Given the description of an element on the screen output the (x, y) to click on. 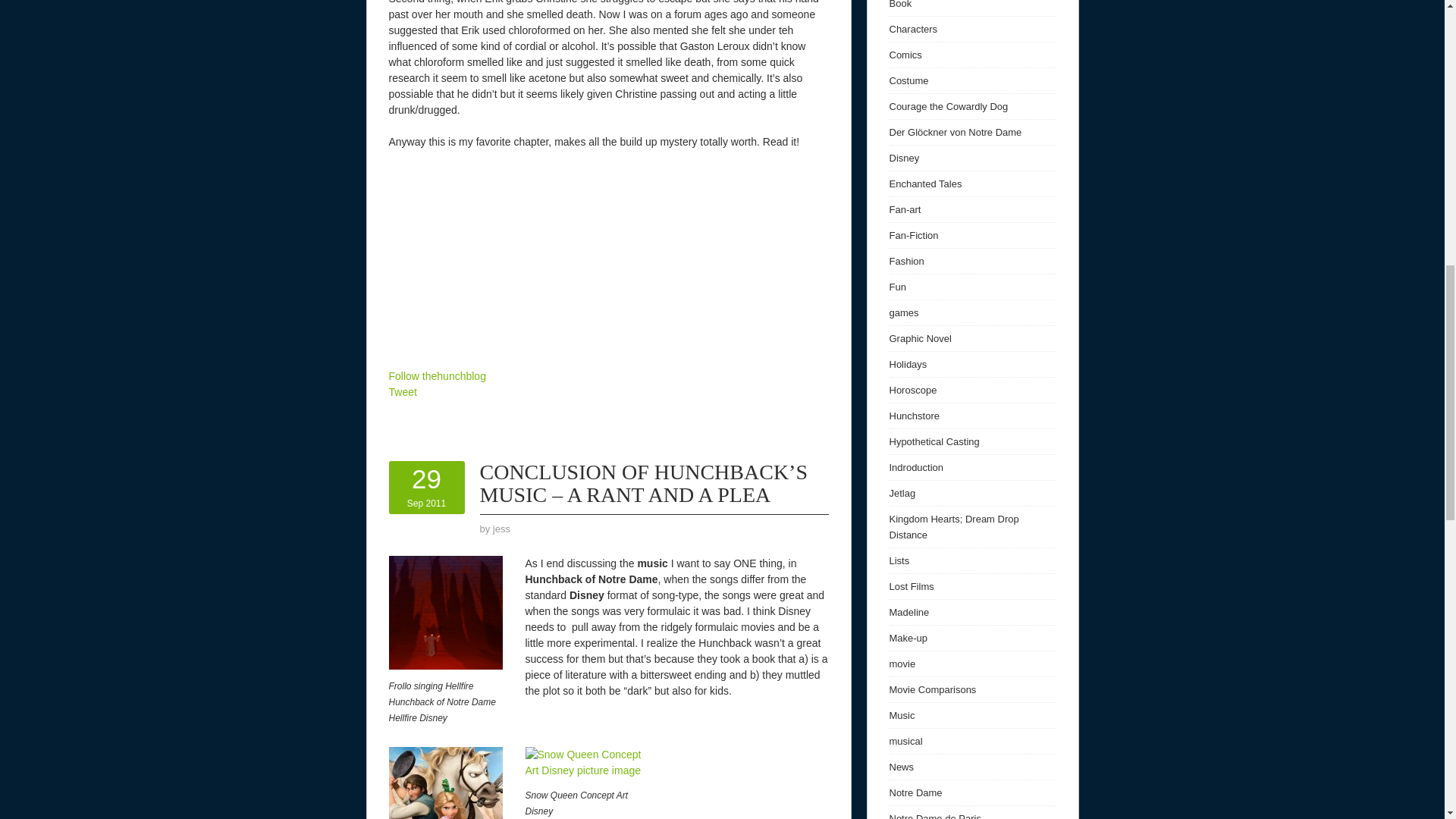
Snow Queen Concept Art Disney (585, 762)
by jess (502, 528)
Tweet (426, 486)
Tangled Promotion Poster Disney (402, 391)
Follow thehunchblog (445, 782)
jess (436, 376)
